Given the description of an element on the screen output the (x, y) to click on. 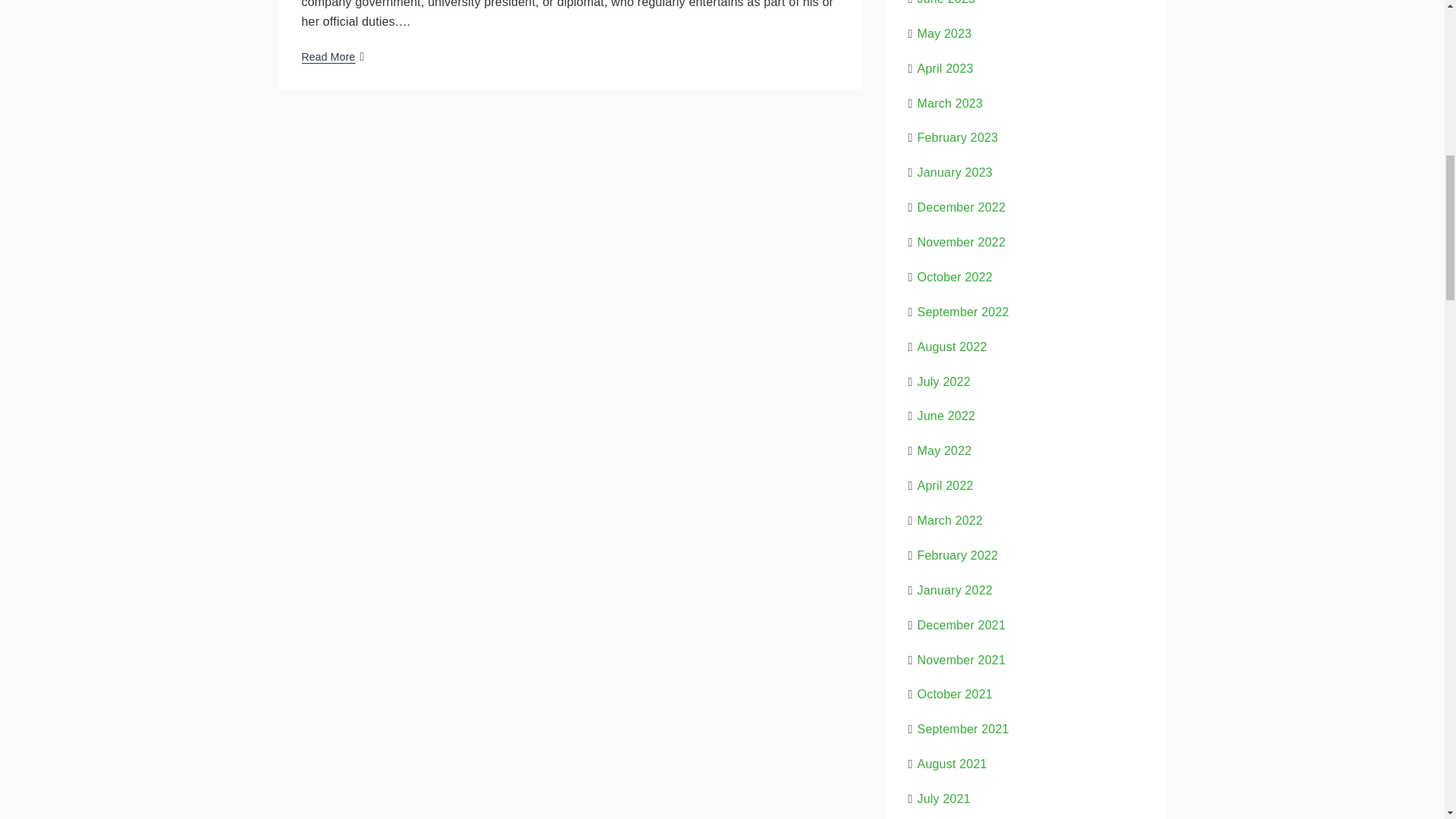
June 2023 (946, 2)
May 2023 (944, 33)
Read More (328, 56)
